Given the description of an element on the screen output the (x, y) to click on. 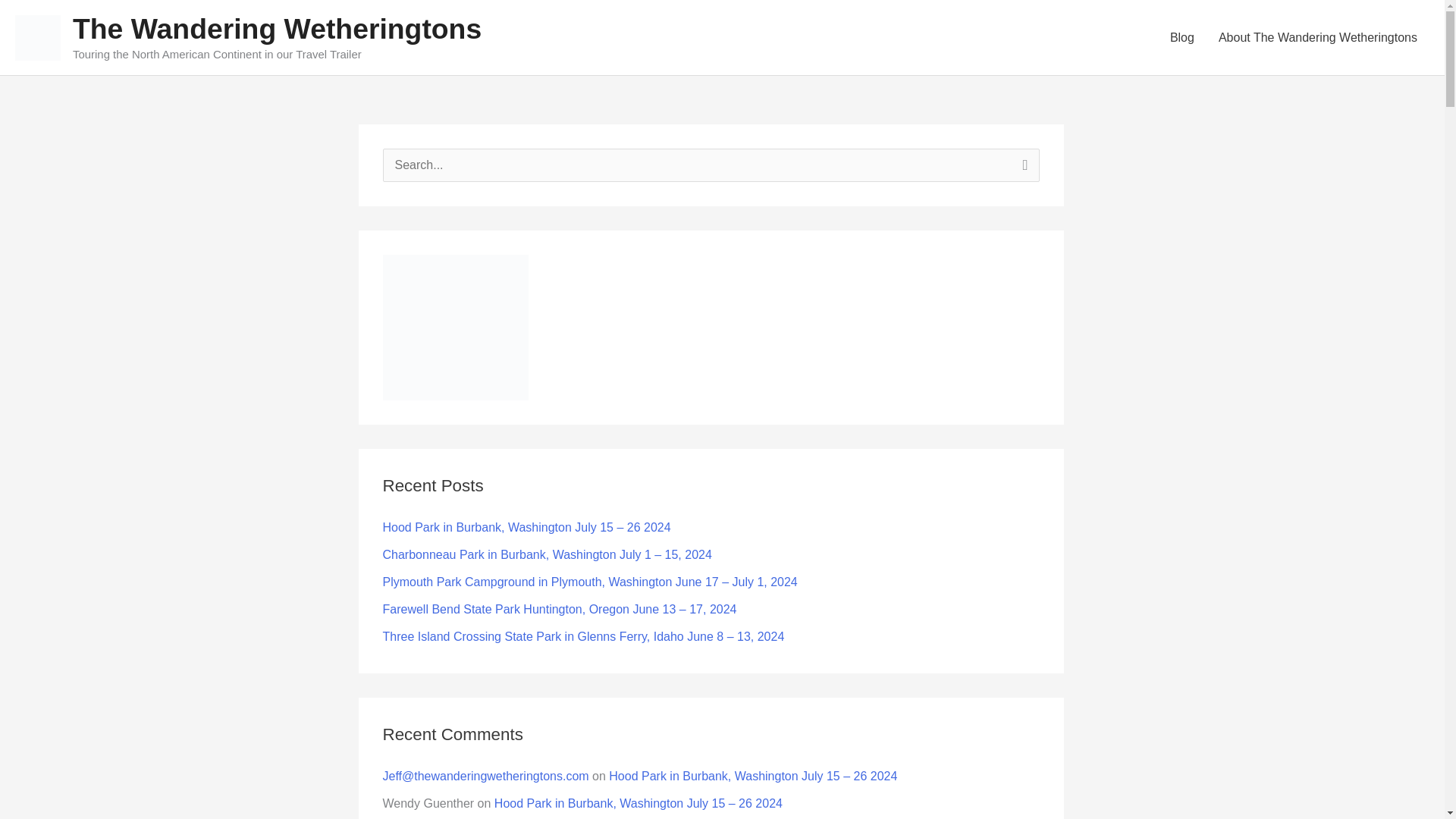
Blog (1182, 37)
The Wandering Wetheringtons (276, 29)
About The Wandering Wetheringtons (1318, 37)
